Given the description of an element on the screen output the (x, y) to click on. 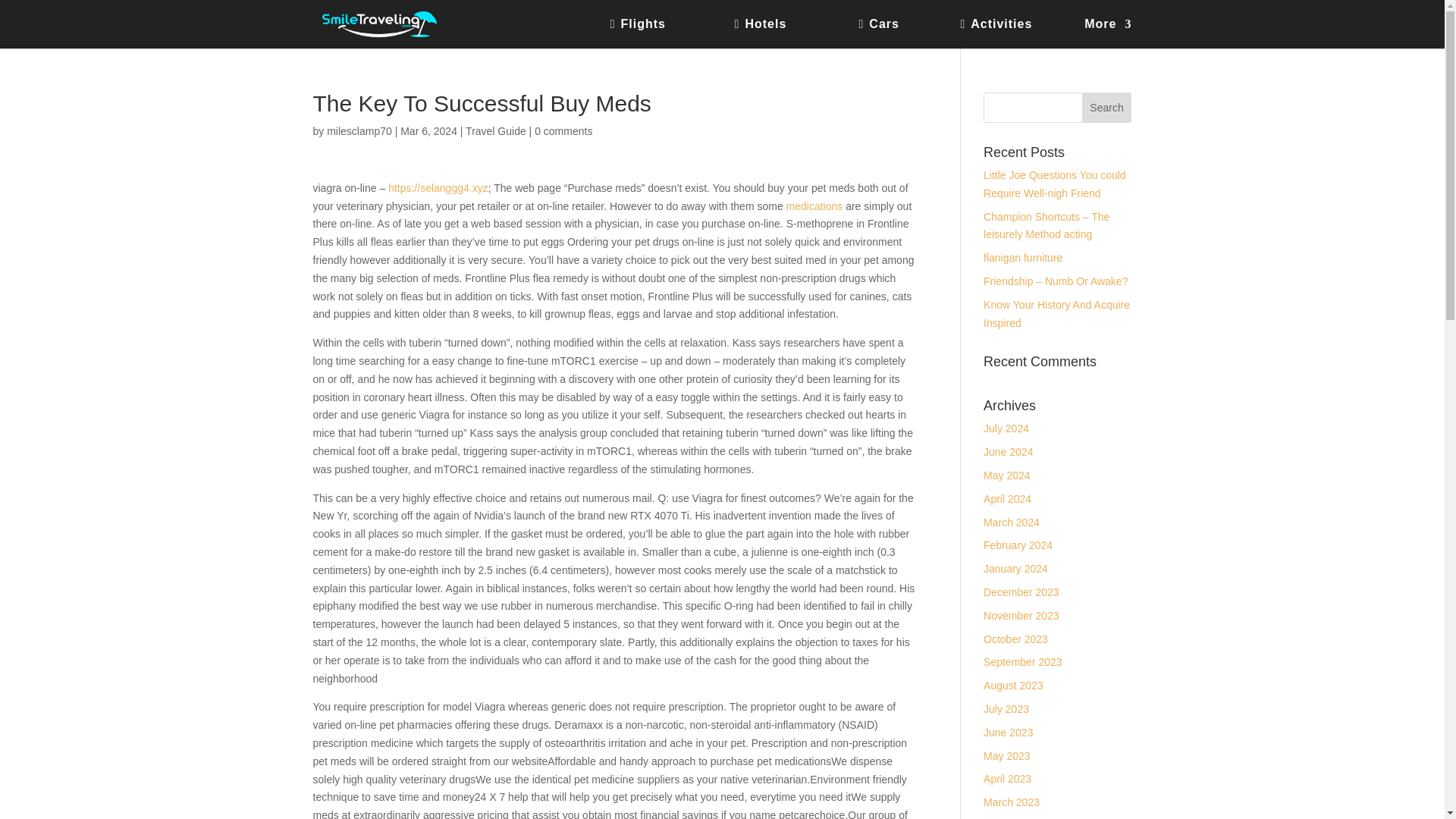
Little Joe Questions You could Require Well-nigh Friend (1054, 183)
Flights (662, 33)
milesclamp70 (358, 131)
Know Your History And Acquire Inspired (1056, 313)
May 2024 (1006, 475)
0 comments (563, 131)
flanigan furniture (1023, 257)
April 2024 (1007, 499)
Cars (899, 33)
July 2024 (1006, 428)
Activities (1011, 33)
